Given the description of an element on the screen output the (x, y) to click on. 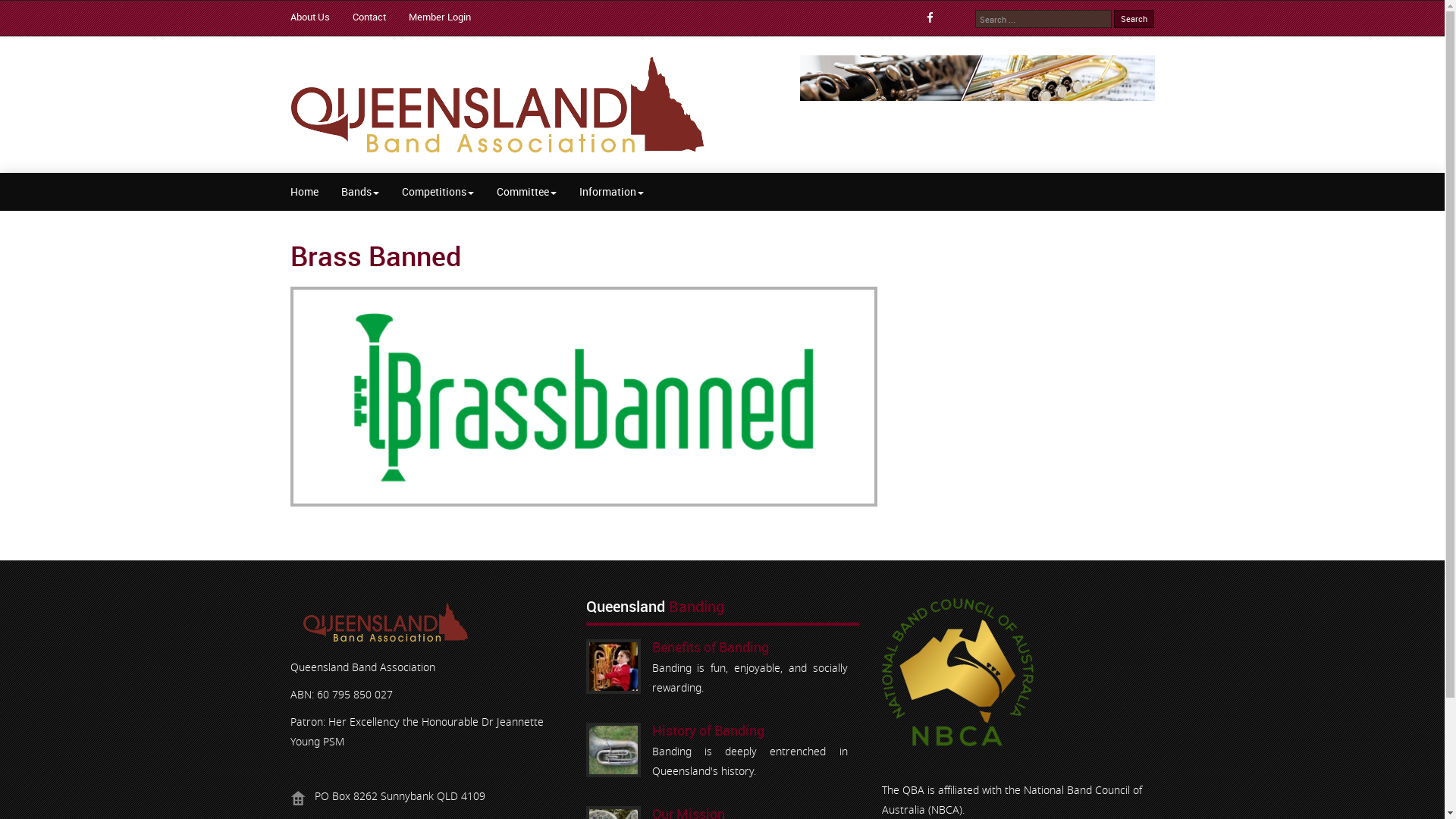
Home Element type: text (304, 191)
Member Login Element type: text (449, 17)
Brass Banned Element type: text (374, 255)
History of Banding Element type: text (708, 731)
Benefits of Banding Element type: hover (612, 666)
History of Banding Element type: hover (612, 749)
QBA Element type: hover (496, 104)
Search Element type: text (1133, 18)
Benefits of Banding Element type: text (710, 648)
Contact Element type: text (379, 17)
  Element type: text (935, 17)
About Us Element type: text (320, 17)
